Given the description of an element on the screen output the (x, y) to click on. 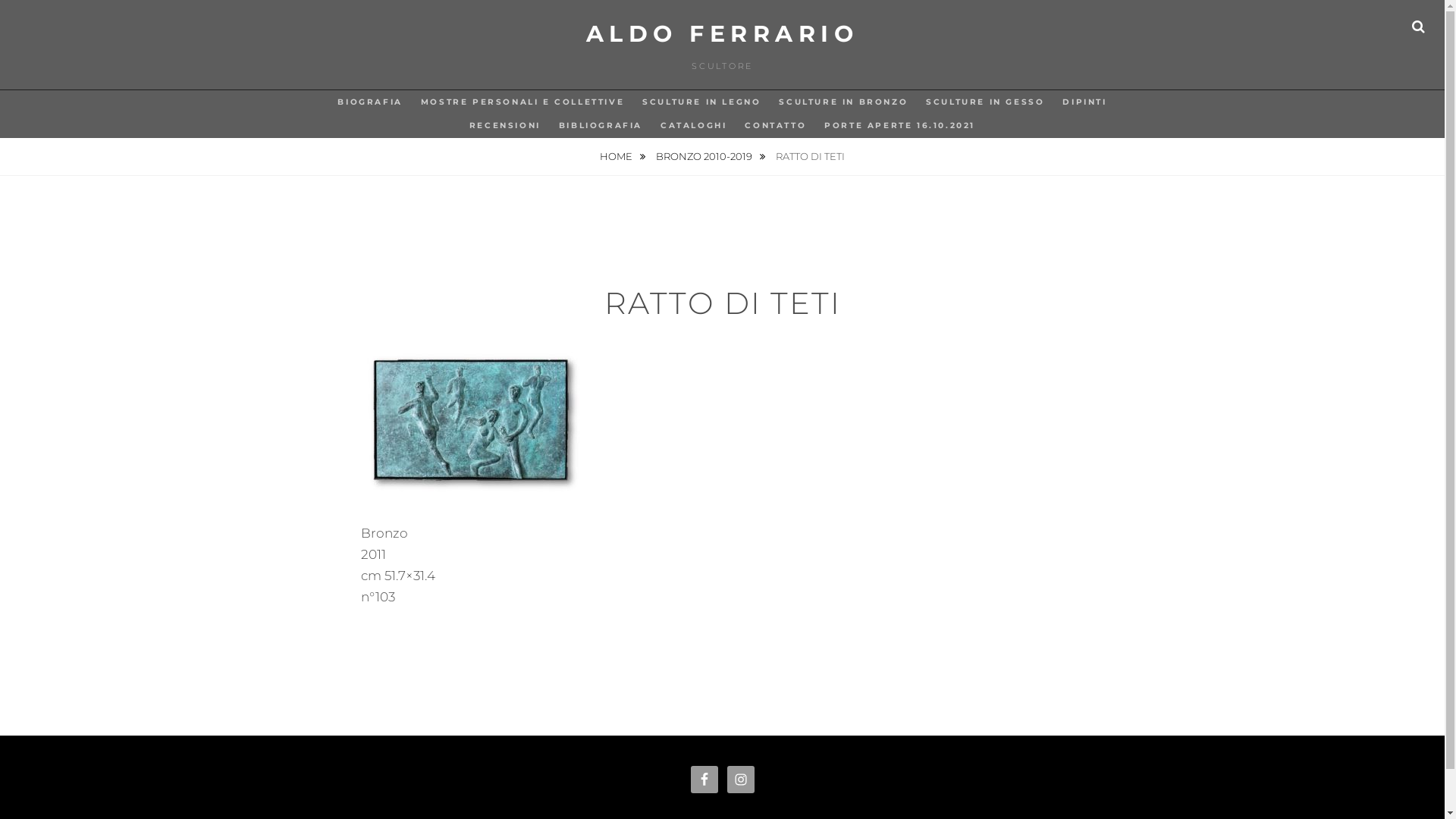
Skip to content Element type: text (0, 0)
HOME Element type: text (622, 156)
CATALOGHI Element type: text (693, 125)
DIPINTI Element type: text (1083, 102)
PORTE APERTE 16.10.2021 Element type: text (899, 125)
SEARCH Element type: text (1418, 26)
SCULTURE IN BRONZO Element type: text (843, 102)
MOSTRE PERSONALI E COLLETTIVE Element type: text (522, 102)
BIBLIOGRAFIA Element type: text (600, 125)
BIOGRAFIA Element type: text (369, 102)
ALDO FERRARIO Element type: text (722, 33)
CONTATTO Element type: text (775, 125)
BRONZO 2010-2019 Element type: text (710, 156)
SCULTURE IN LEGNO Element type: text (701, 102)
SCULTURE IN GESSO Element type: text (984, 102)
RECENSIONI Element type: text (504, 125)
